Given the description of an element on the screen output the (x, y) to click on. 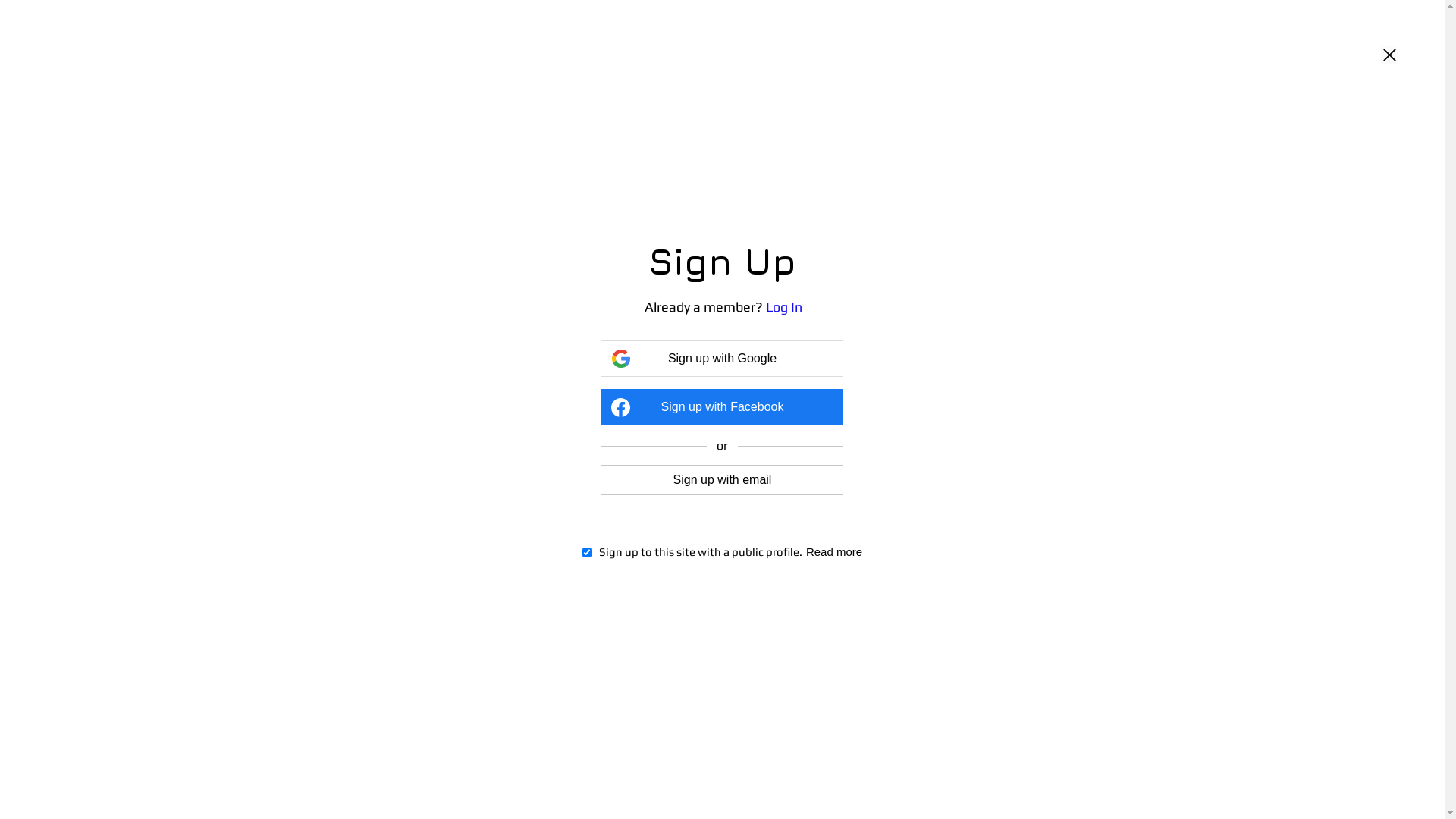
Sign up with Google Element type: text (721, 358)
Sign up with Facebook Element type: text (721, 407)
Log In Element type: text (783, 306)
Sign up with email Element type: text (721, 479)
Read more Element type: text (834, 551)
